Given the description of an element on the screen output the (x, y) to click on. 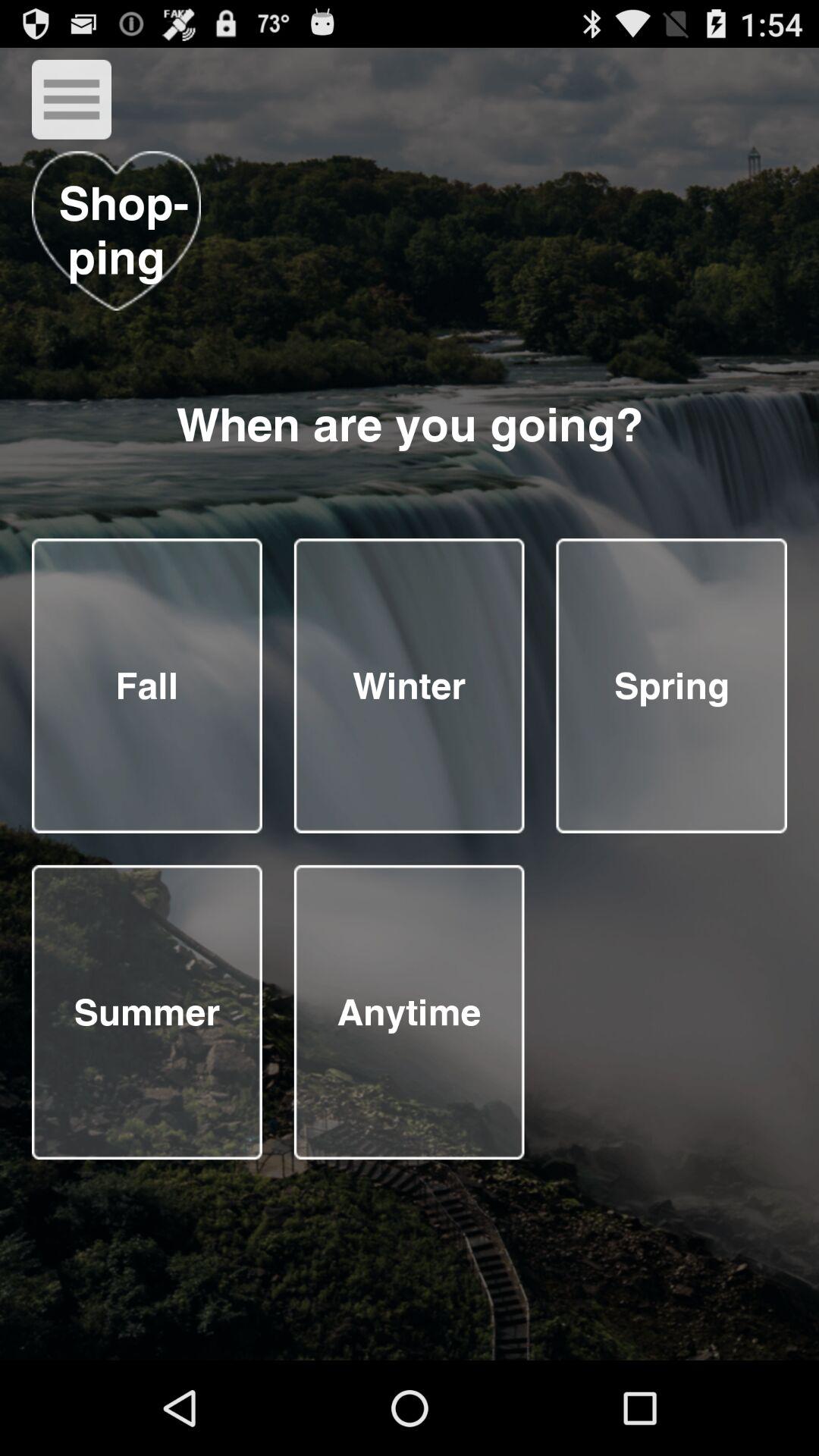
selecting answers (671, 685)
